Given the description of an element on the screen output the (x, y) to click on. 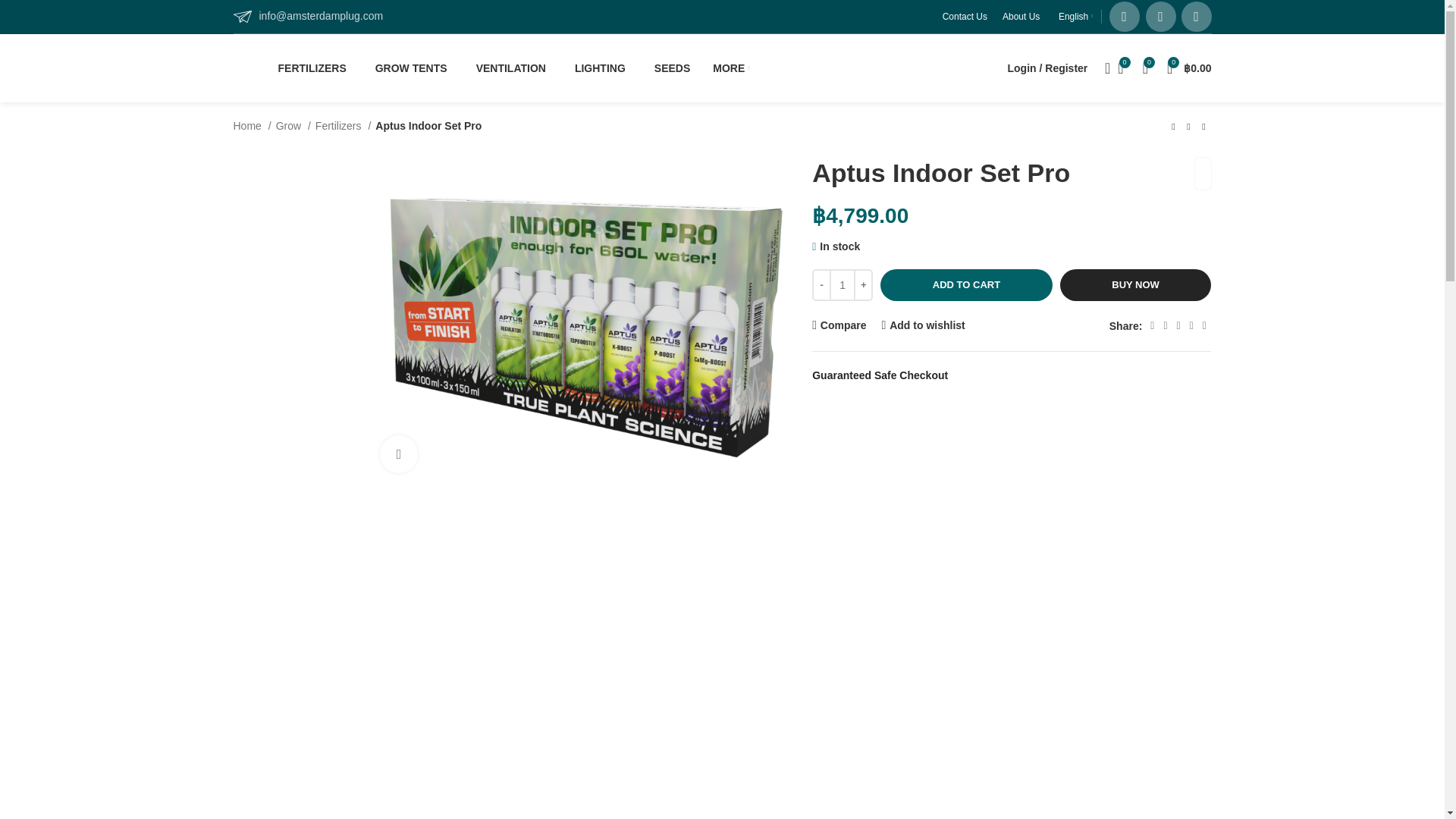
Contact Us (964, 16)
LIGHTING (597, 68)
FERTILIZERS (308, 68)
GROW TENTS (407, 68)
Shopping cart (1189, 68)
Home (251, 125)
About Us (1021, 16)
My account (1048, 68)
Fertilizers (343, 125)
Grow (293, 125)
SEEDS (668, 68)
VENTILATION (508, 68)
English (1073, 16)
English (1073, 16)
